Given the description of an element on the screen output the (x, y) to click on. 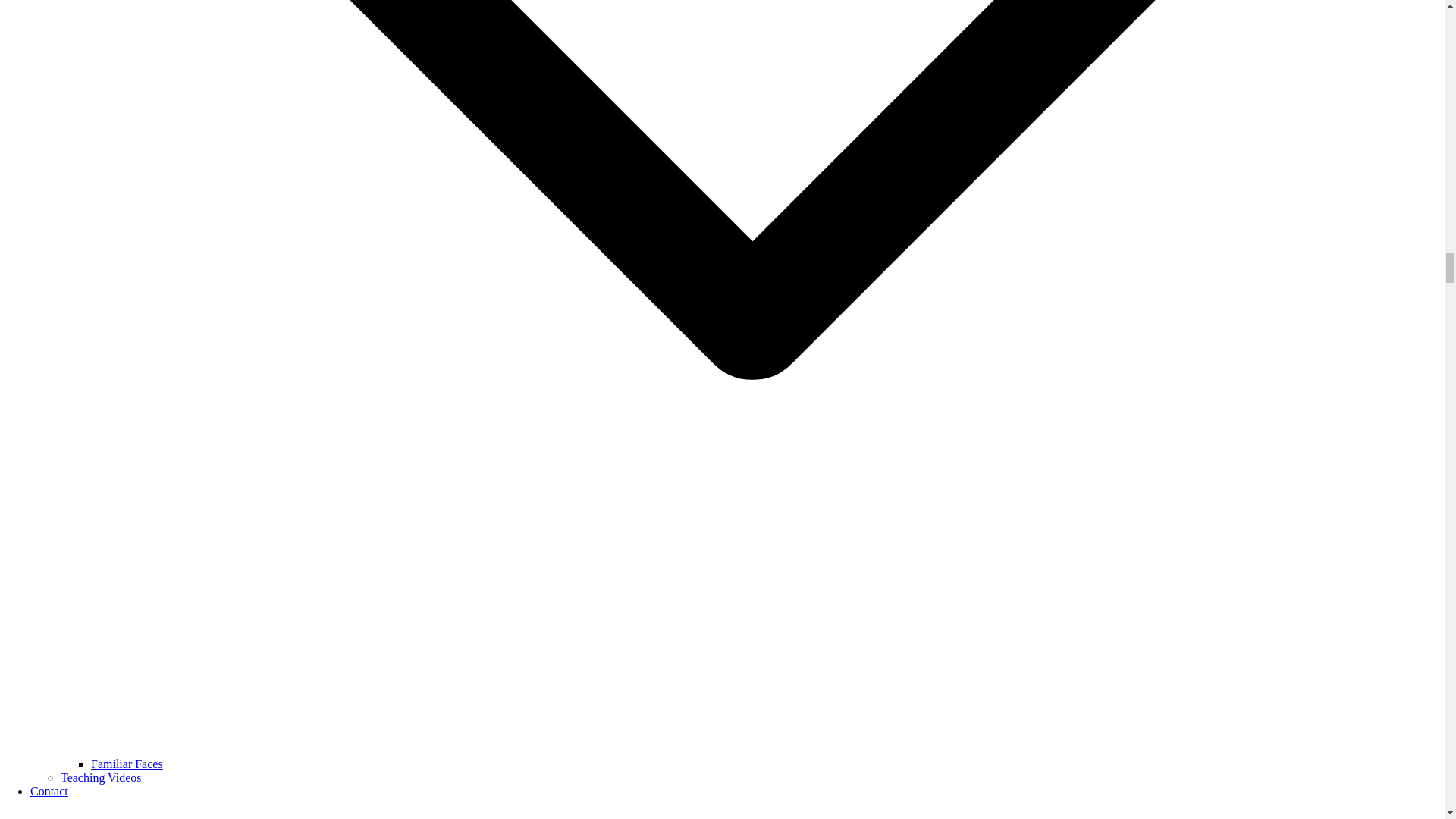
Contact (49, 790)
Familiar Faces (126, 763)
Teaching Videos (101, 777)
